Given the description of an element on the screen output the (x, y) to click on. 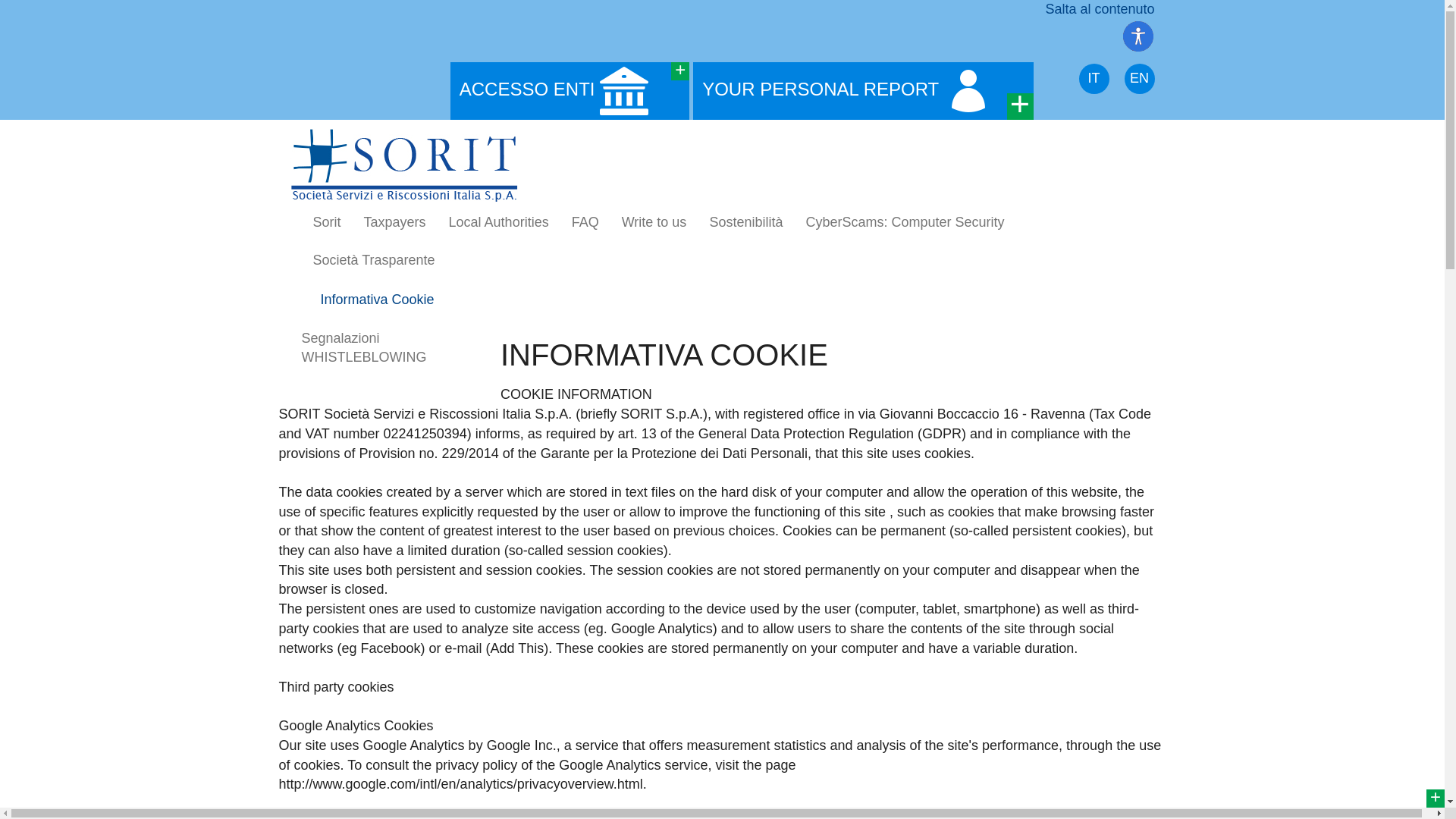
CyberScams: Computer Security (903, 221)
YOUR PERSONAL REPORT (862, 90)
FAQ (585, 221)
Taxpayers (395, 221)
ACCESSO ENTI (568, 90)
Salta al contenuto (1099, 8)
Write to us (654, 221)
Sorit (326, 221)
Local Authorities (499, 221)
SORIT (402, 165)
